Given the description of an element on the screen output the (x, y) to click on. 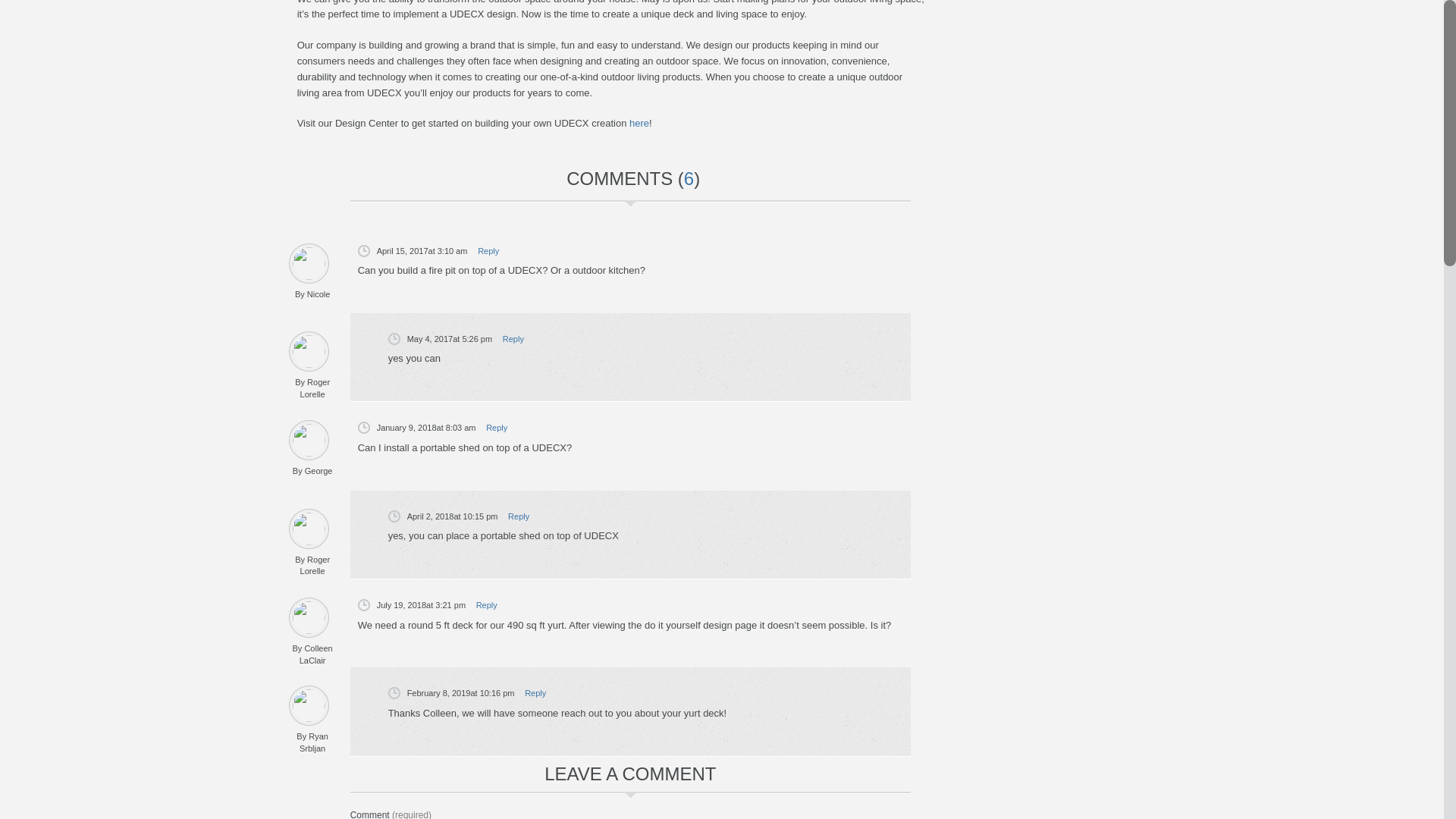
Page 5 (604, 65)
